Given the description of an element on the screen output the (x, y) to click on. 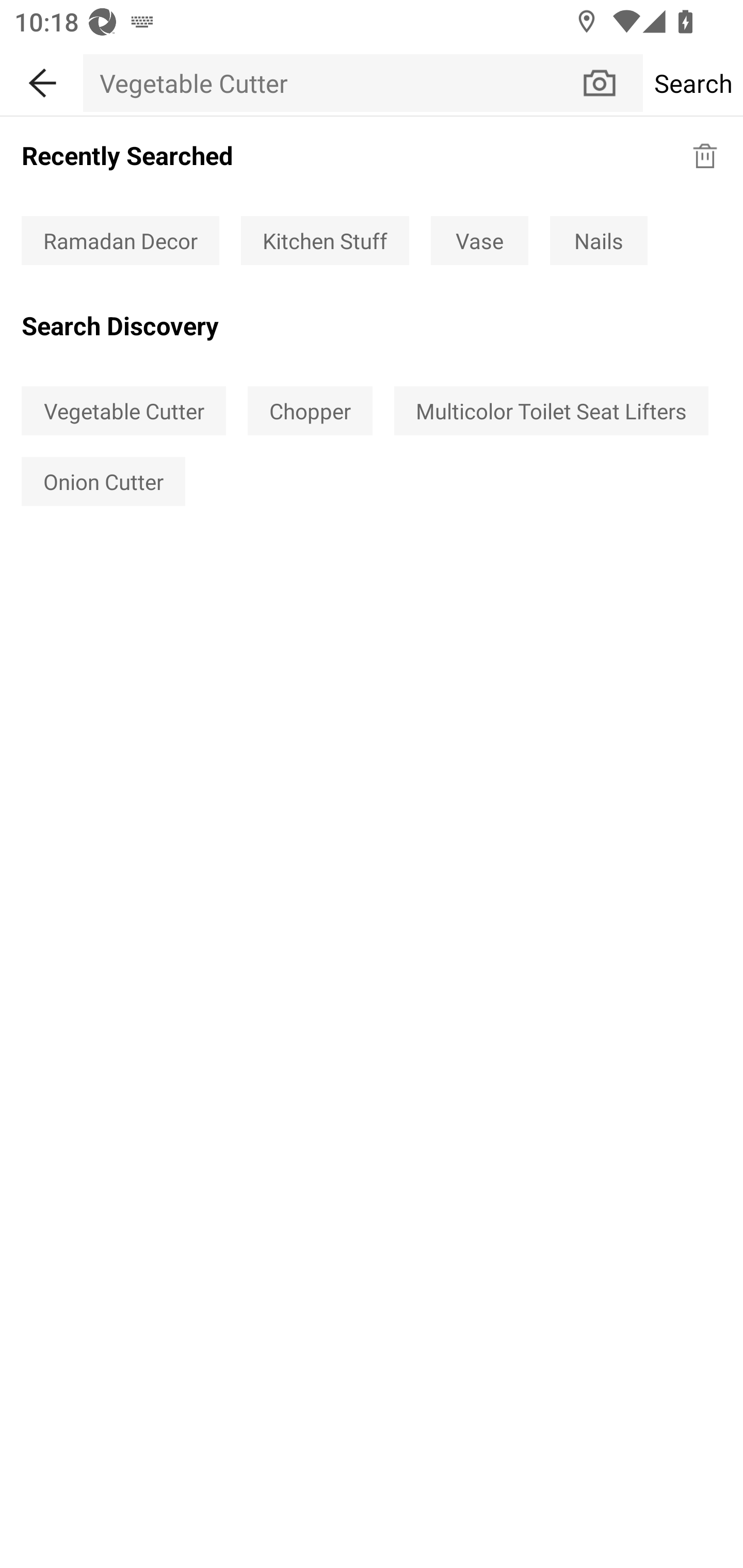
BACK (41, 79)
Vegetable Cutter (331, 82)
Search (692, 82)
Ramadan Decor (120, 240)
Kitchen Stuff (324, 240)
Vase (479, 240)
Nails (598, 240)
Vegetable Cutter (123, 410)
Chopper (309, 410)
Multicolor Toilet Seat Lifters (551, 410)
Onion Cutter (103, 481)
